Given the description of an element on the screen output the (x, y) to click on. 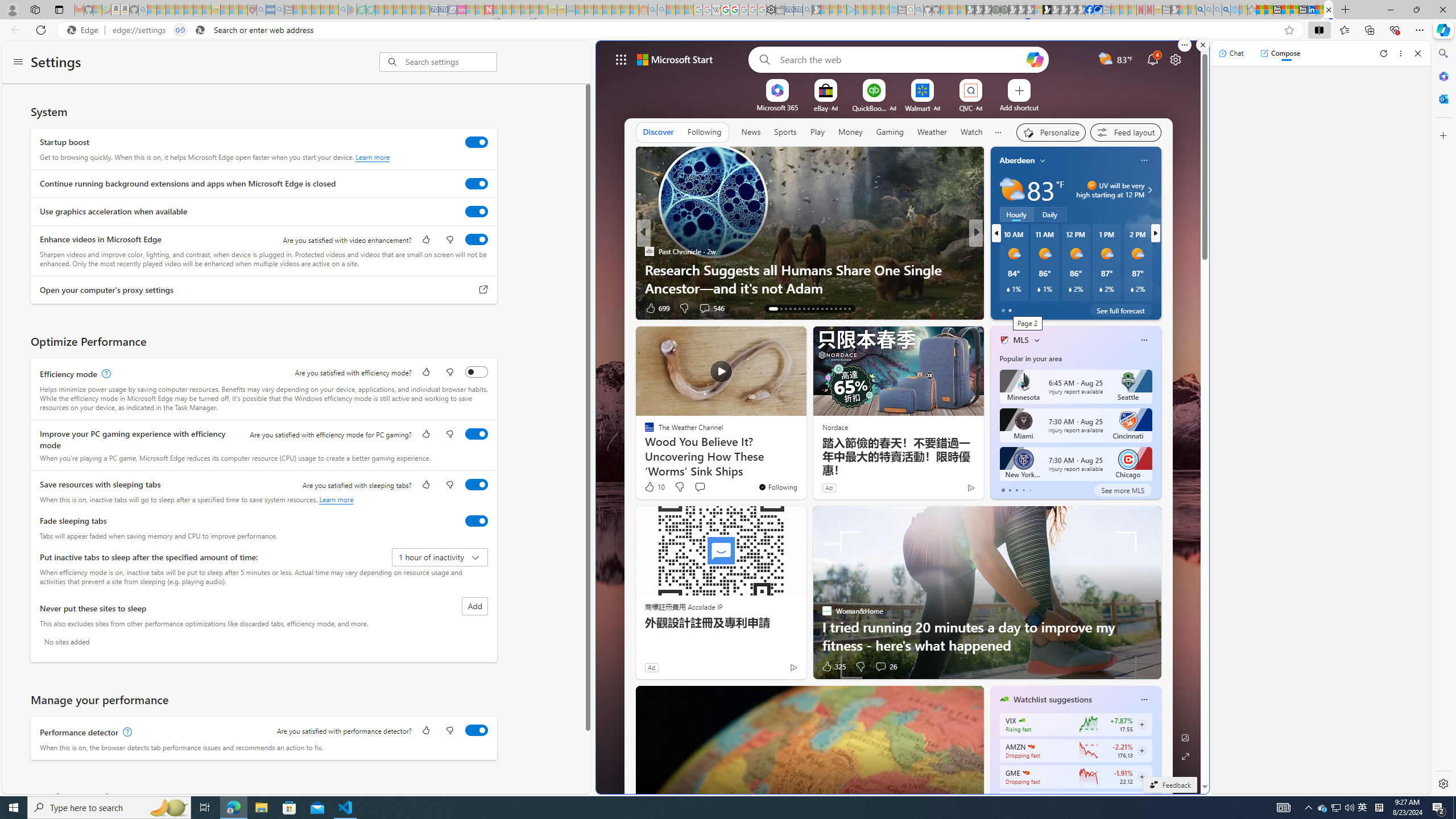
Local - MSN - Sleeping (242, 9)
Learn more (335, 499)
View comments 10 Comment (1054, 307)
23 Like (1005, 307)
325 Like (833, 666)
AutomationID: tab-23 (821, 308)
github - Search - Sleeping (919, 9)
475 Like (1007, 307)
